Given the description of an element on the screen output the (x, y) to click on. 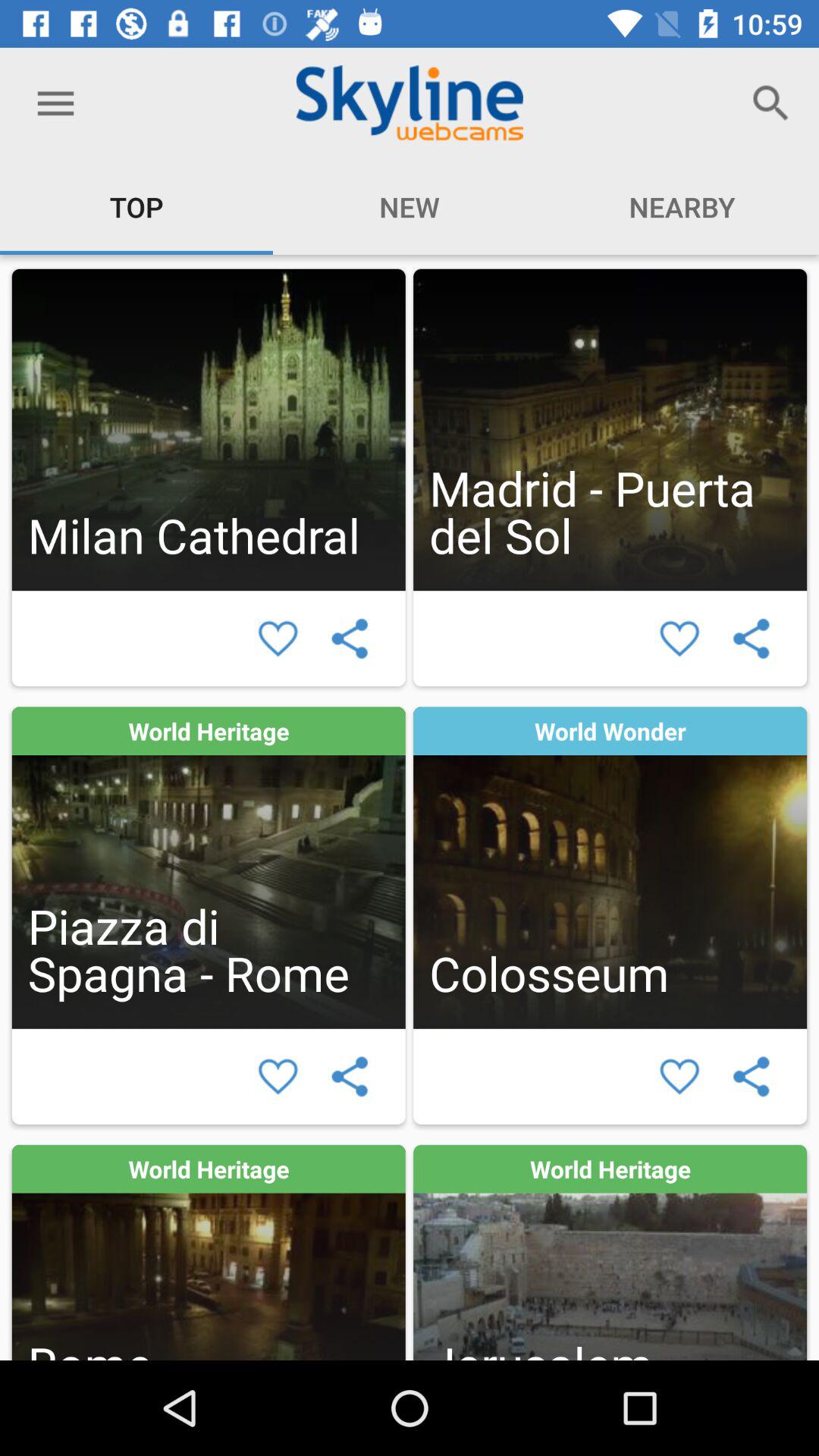
share article (349, 638)
